Given the description of an element on the screen output the (x, y) to click on. 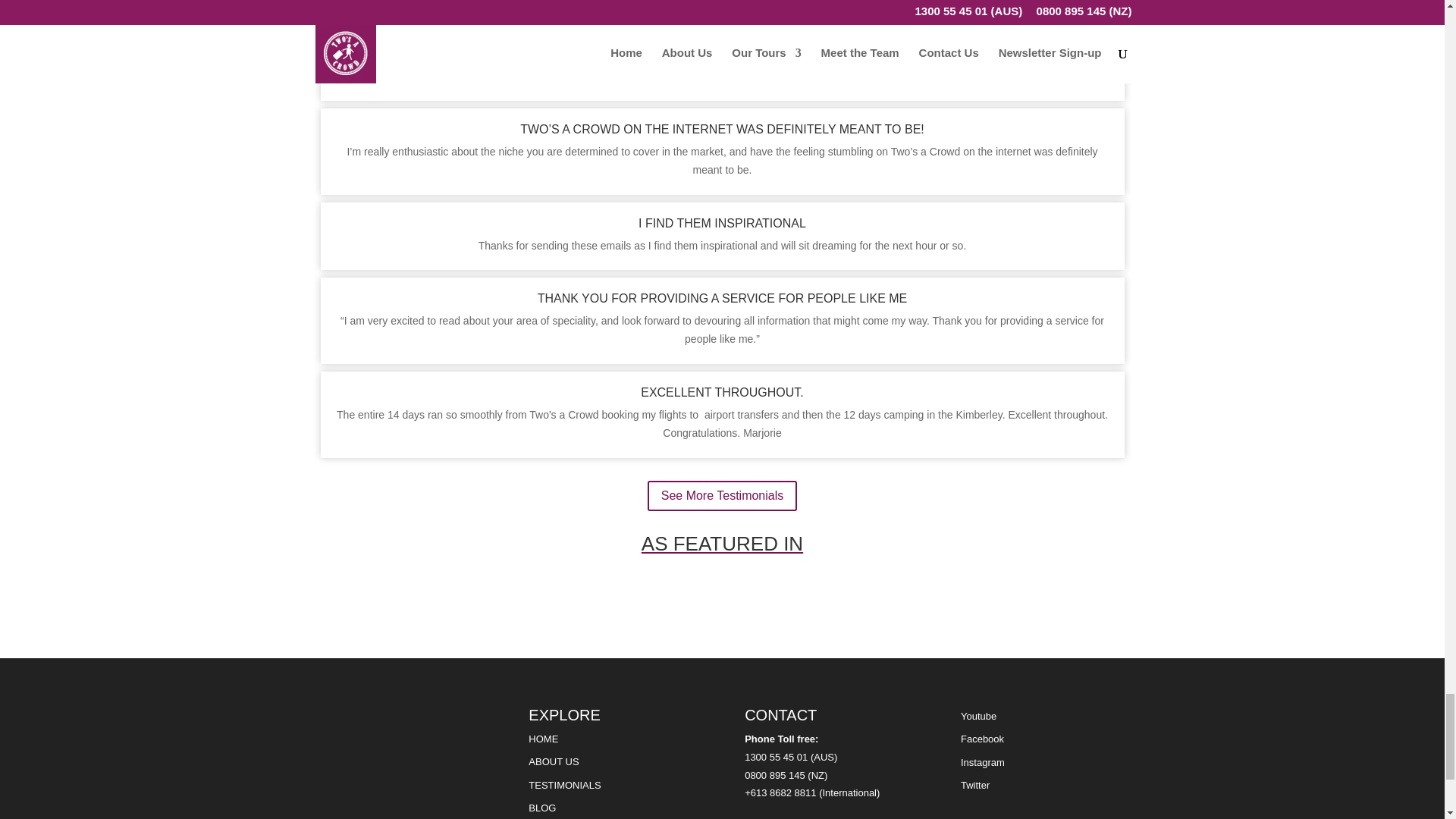
TESTIMONIALS (563, 785)
HOME (542, 738)
Facebook (982, 738)
Youtube (977, 715)
0800 895 145 (776, 775)
BLOG (542, 808)
See More Testimonials (722, 495)
1300 55 45 01 (776, 756)
Instagram (982, 762)
ABOUT US (553, 761)
